Given the description of an element on the screen output the (x, y) to click on. 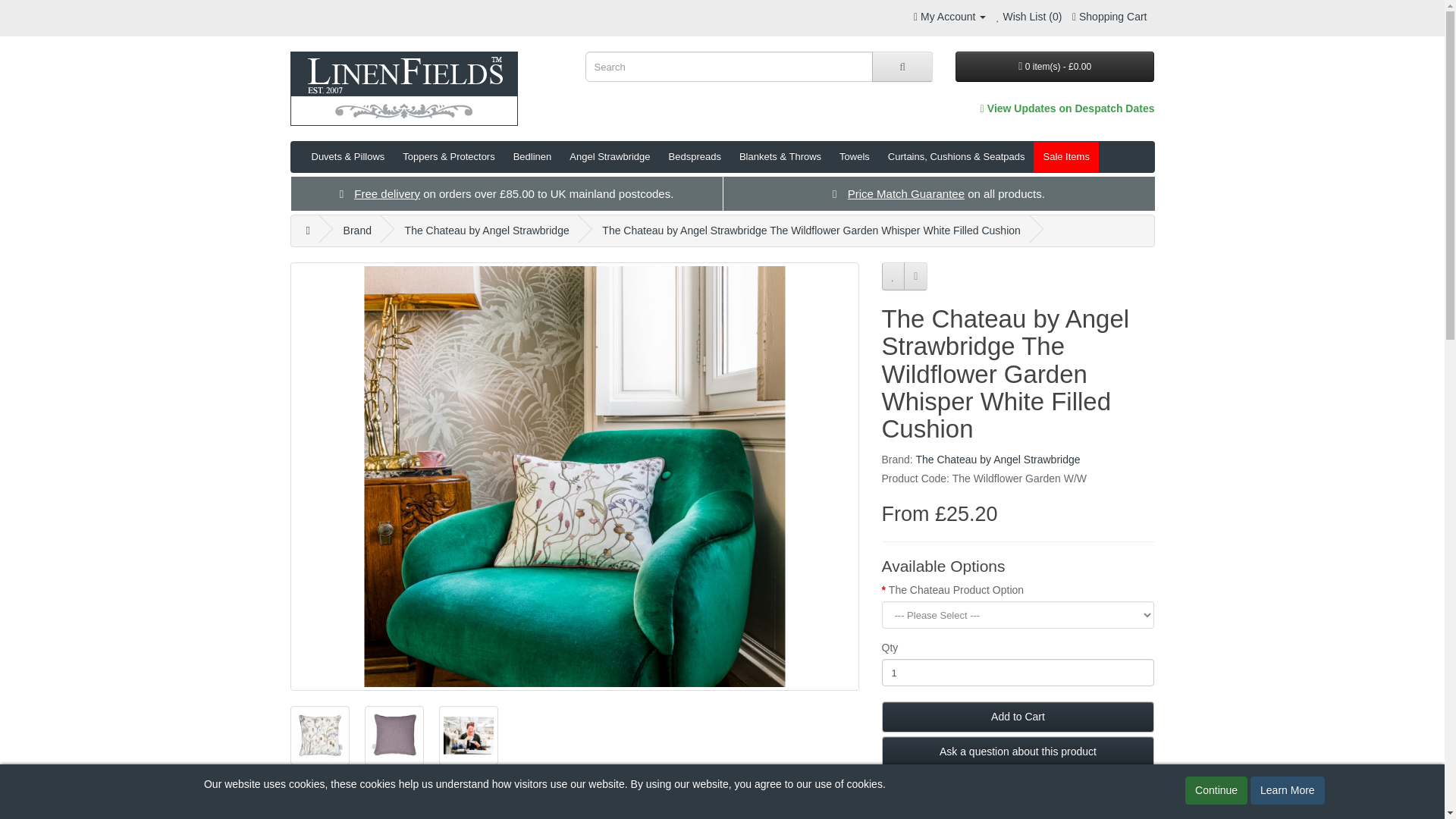
LinenFields (402, 88)
My Account (949, 16)
Continue (1216, 790)
My Account (949, 16)
Shopping Cart (1109, 16)
Continue (1216, 790)
